Given the description of an element on the screen output the (x, y) to click on. 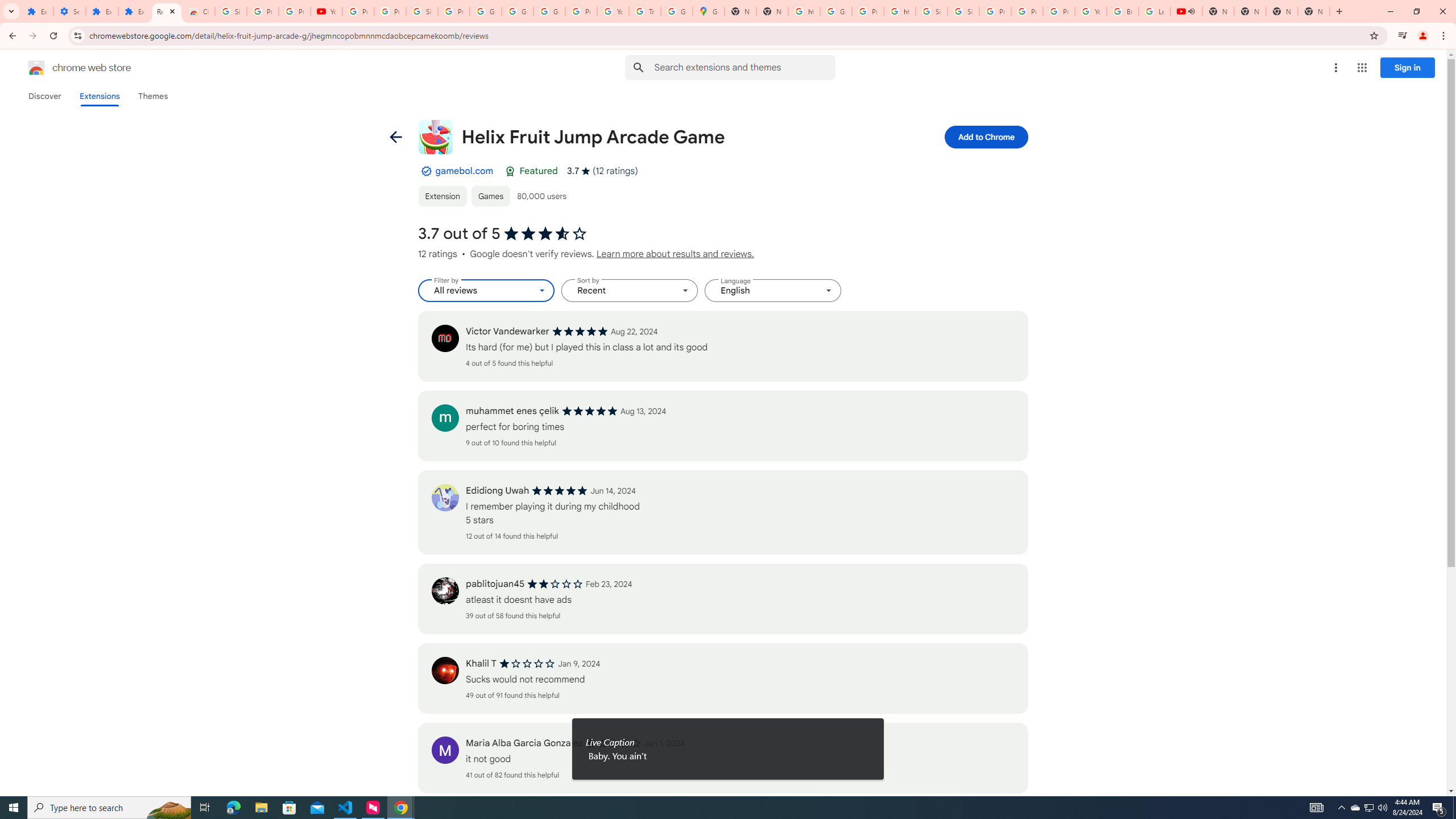
1 out of 5 stars (613, 743)
Sign in - Google Accounts (421, 11)
Navigate back to item detail page (395, 136)
Reviews: Helix Fruit Jump Arcade Game (166, 11)
Extensions (37, 11)
New Tab (1313, 11)
Learn more about results and reviews. (674, 253)
Chrome Web Store - Themes (198, 11)
